Given the description of an element on the screen output the (x, y) to click on. 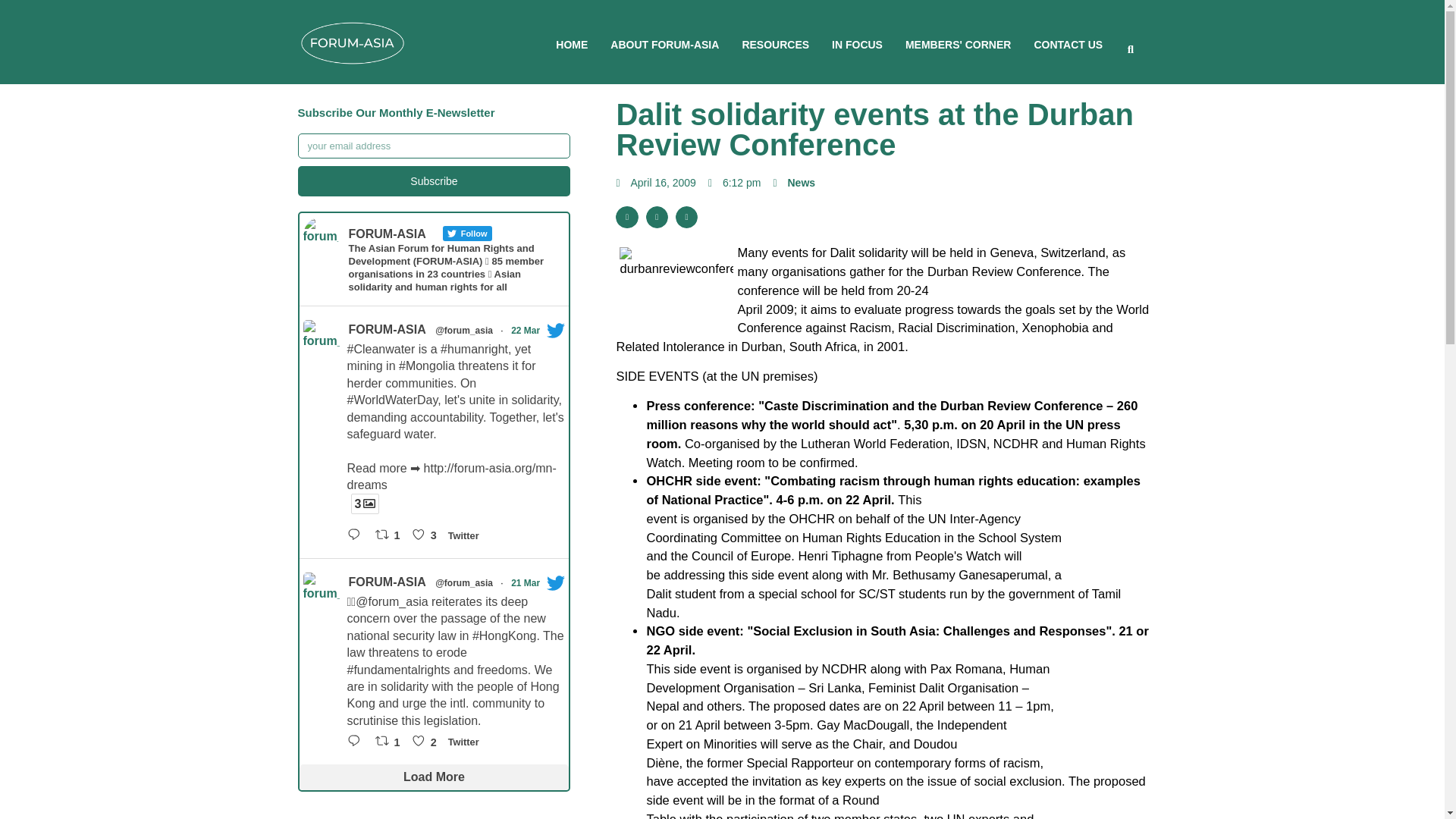
CONTACT US (1067, 44)
ABOUT FORUM-ASIA (664, 44)
RESOURCES (774, 44)
HOME (571, 44)
durbanreviewconference.jpg (676, 286)
MEMBERS' CORNER (957, 44)
IN FOCUS (856, 44)
